Given the description of an element on the screen output the (x, y) to click on. 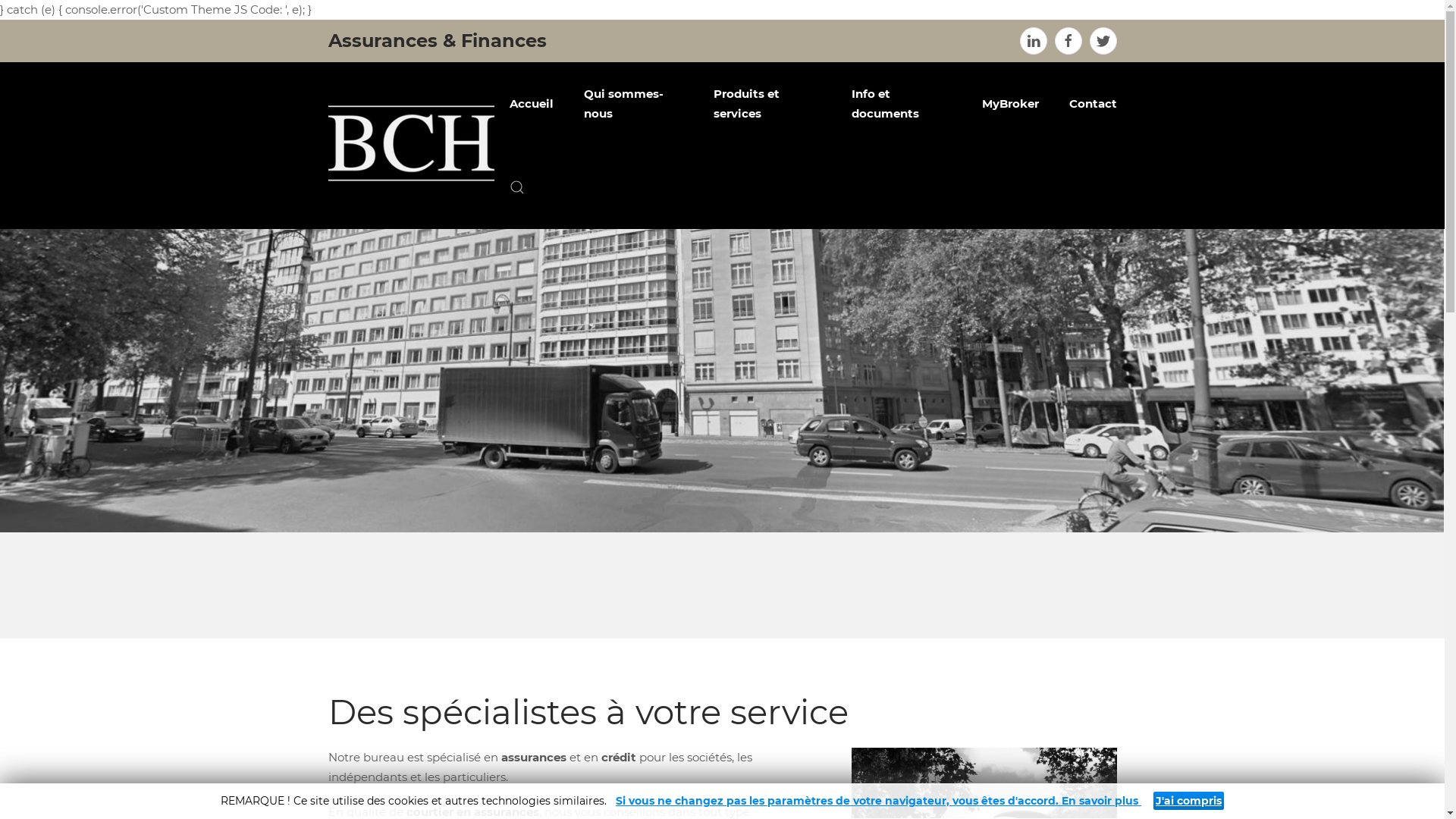
MyBroker Element type: text (1009, 103)
Produits et services Element type: text (766, 103)
Contact Element type: text (1093, 103)
Accueil Element type: text (531, 103)
Info et documents Element type: text (901, 103)
Qui sommes-nous Element type: text (633, 103)
